Given the description of an element on the screen output the (x, y) to click on. 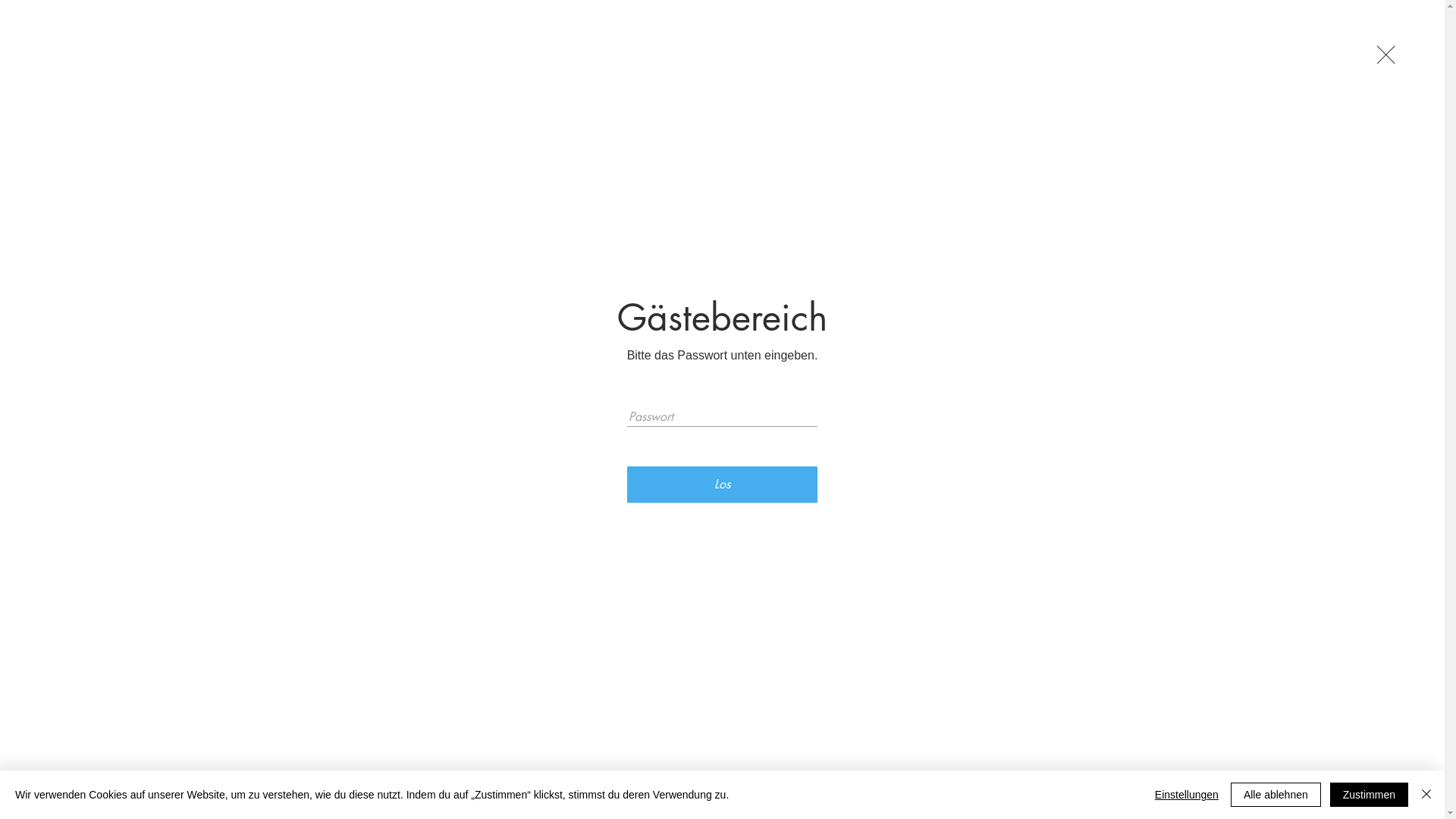
Zustimmen Element type: text (1369, 794)
Alle ablehnen Element type: text (1275, 794)
Los Element type: text (722, 484)
